Given the description of an element on the screen output the (x, y) to click on. 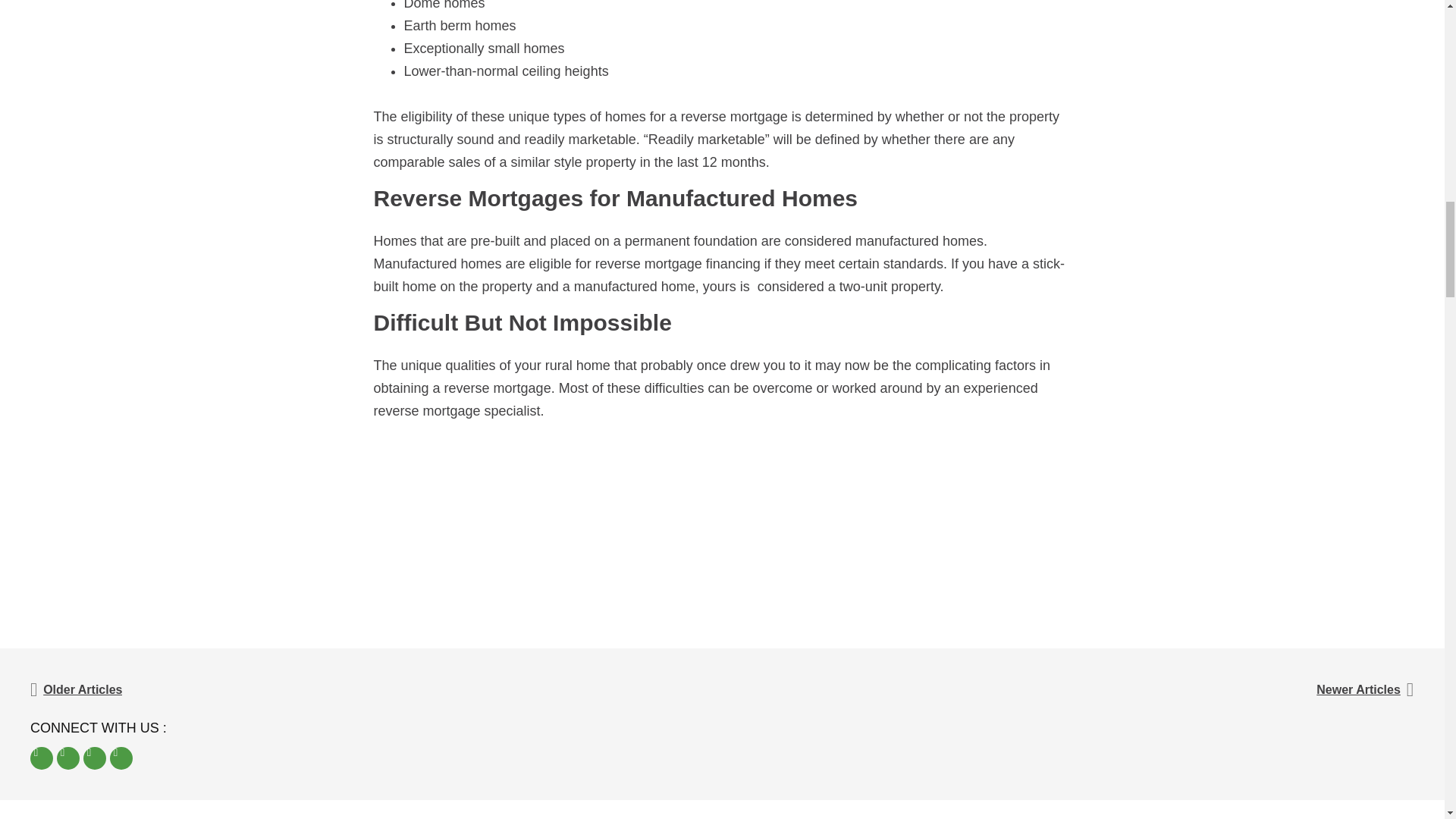
Older Articles (376, 689)
Newer Articles (1067, 689)
Manufactured Homes Reverse Mortgage (566, 263)
